Given the description of an element on the screen output the (x, y) to click on. 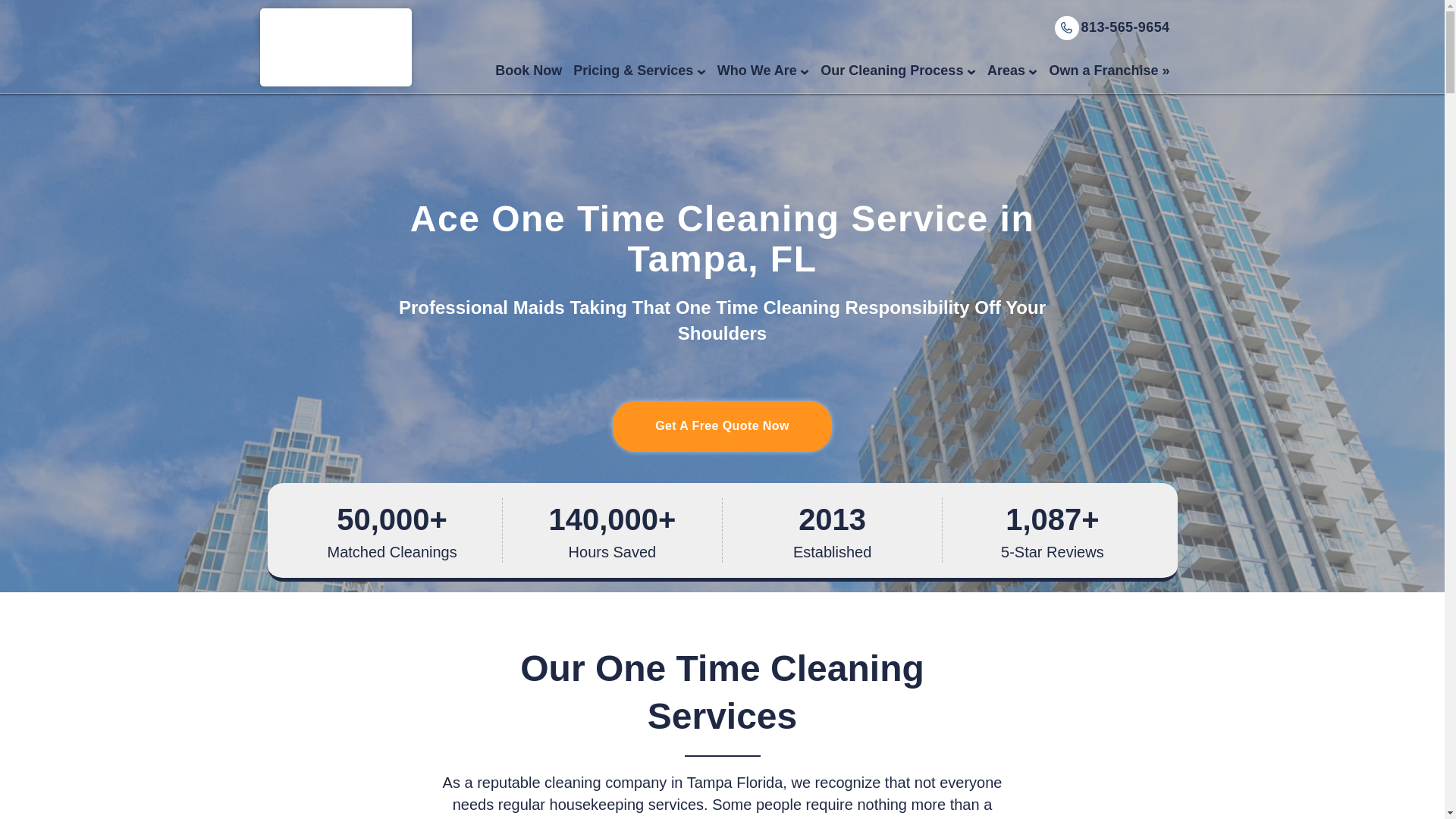
Areas (1006, 70)
Our Cleaning Process (891, 70)
Get A Free Quote Now (721, 426)
Who We Are (756, 70)
813-565-9654 (1125, 27)
Book Now (528, 70)
